Given the description of an element on the screen output the (x, y) to click on. 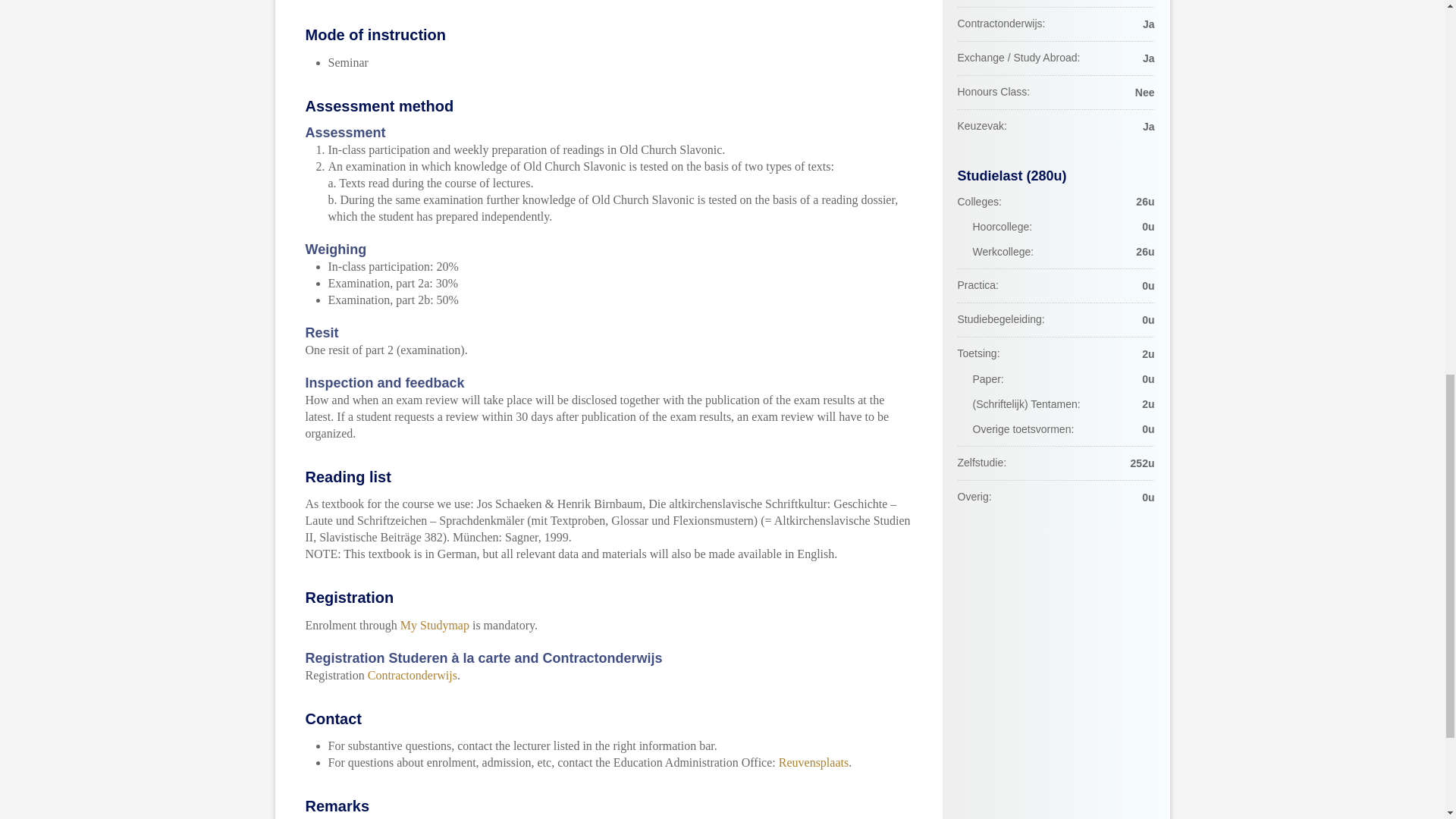
Reuvensplaats (813, 762)
Contractonderwijs (412, 675)
My Studymap (434, 625)
